Given the description of an element on the screen output the (x, y) to click on. 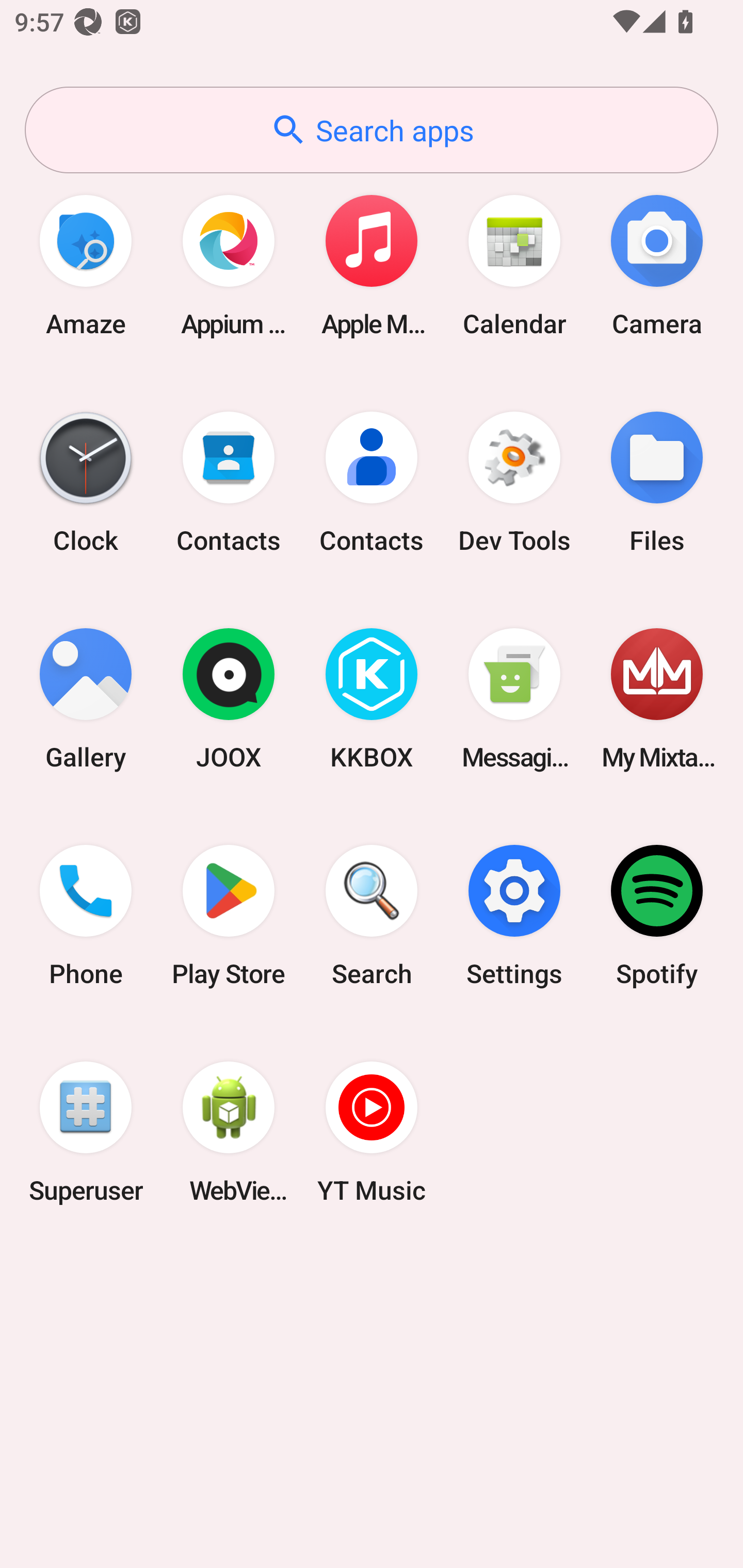
  Search apps (371, 130)
Amaze (85, 264)
Appium Settings (228, 264)
Apple Music (371, 264)
Calendar (514, 264)
Camera (656, 264)
Clock (85, 482)
Contacts (228, 482)
Contacts (371, 482)
Dev Tools (514, 482)
Files (656, 482)
Gallery (85, 699)
JOOX (228, 699)
KKBOX (371, 699)
Messaging (514, 699)
My Mixtapez (656, 699)
Phone (85, 915)
Play Store (228, 915)
Search (371, 915)
Settings (514, 915)
Spotify (656, 915)
Superuser (85, 1131)
WebView Browser Tester (228, 1131)
YT Music (371, 1131)
